Given the description of an element on the screen output the (x, y) to click on. 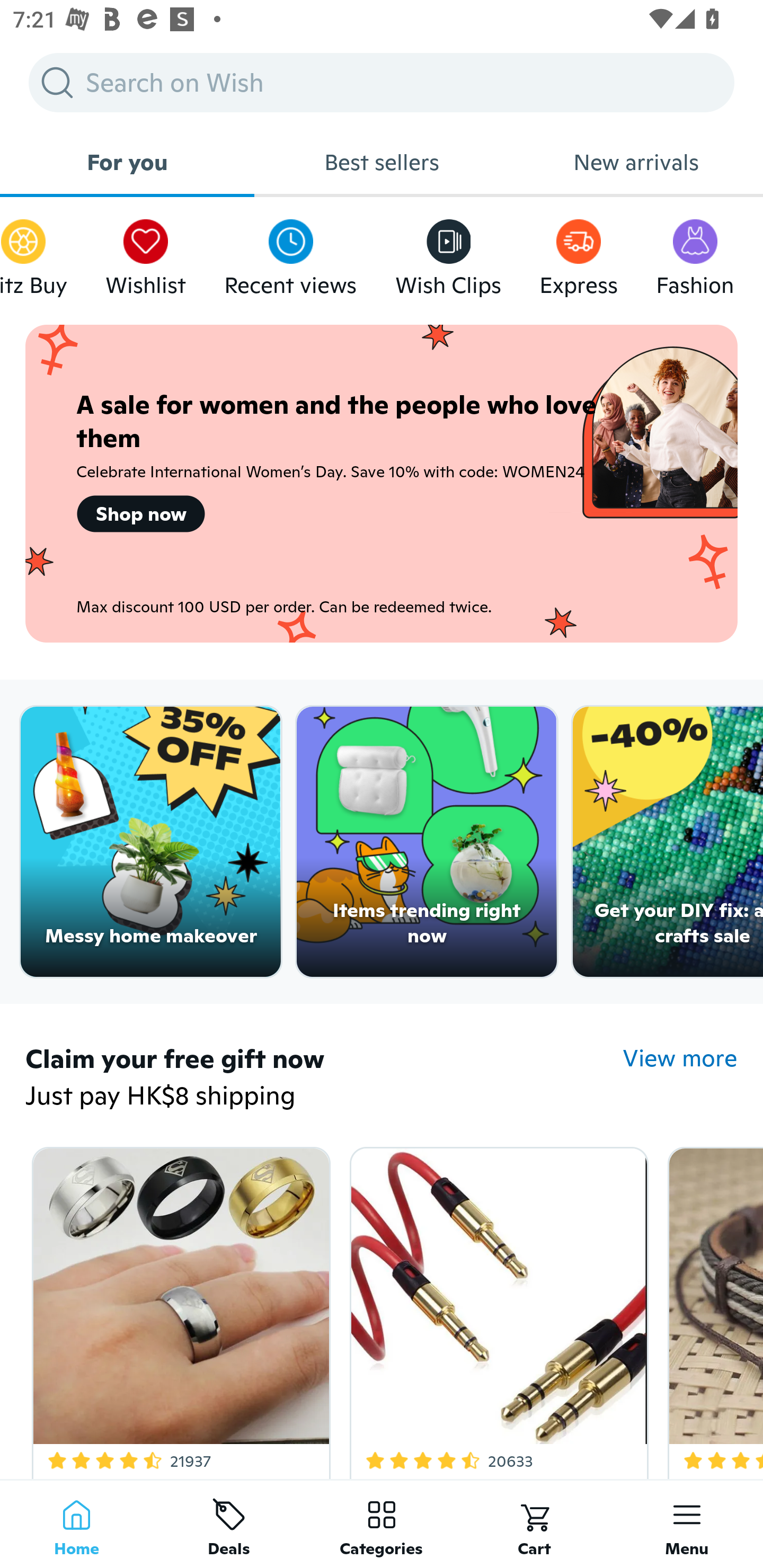
Search on Wish (381, 82)
For you (127, 161)
Best sellers (381, 161)
New arrivals (635, 161)
Blitz Buy (33, 252)
Wishlist (145, 252)
Recent views (290, 252)
Wish Clips (448, 252)
Express (578, 252)
Fashion (695, 252)
Messy home makeover (150, 841)
Items trending right now (426, 841)
Get your DIY fix: arts & crafts sale (668, 841)
Claim your free gift now
Just pay HK$8 shipping (323, 1078)
View more (679, 1058)
4.3 Star Rating 21937 Free (177, 1308)
4.3 Star Rating 20633 Free (495, 1308)
Home (76, 1523)
Deals (228, 1523)
Categories (381, 1523)
Cart (533, 1523)
Menu (686, 1523)
